Given the description of an element on the screen output the (x, y) to click on. 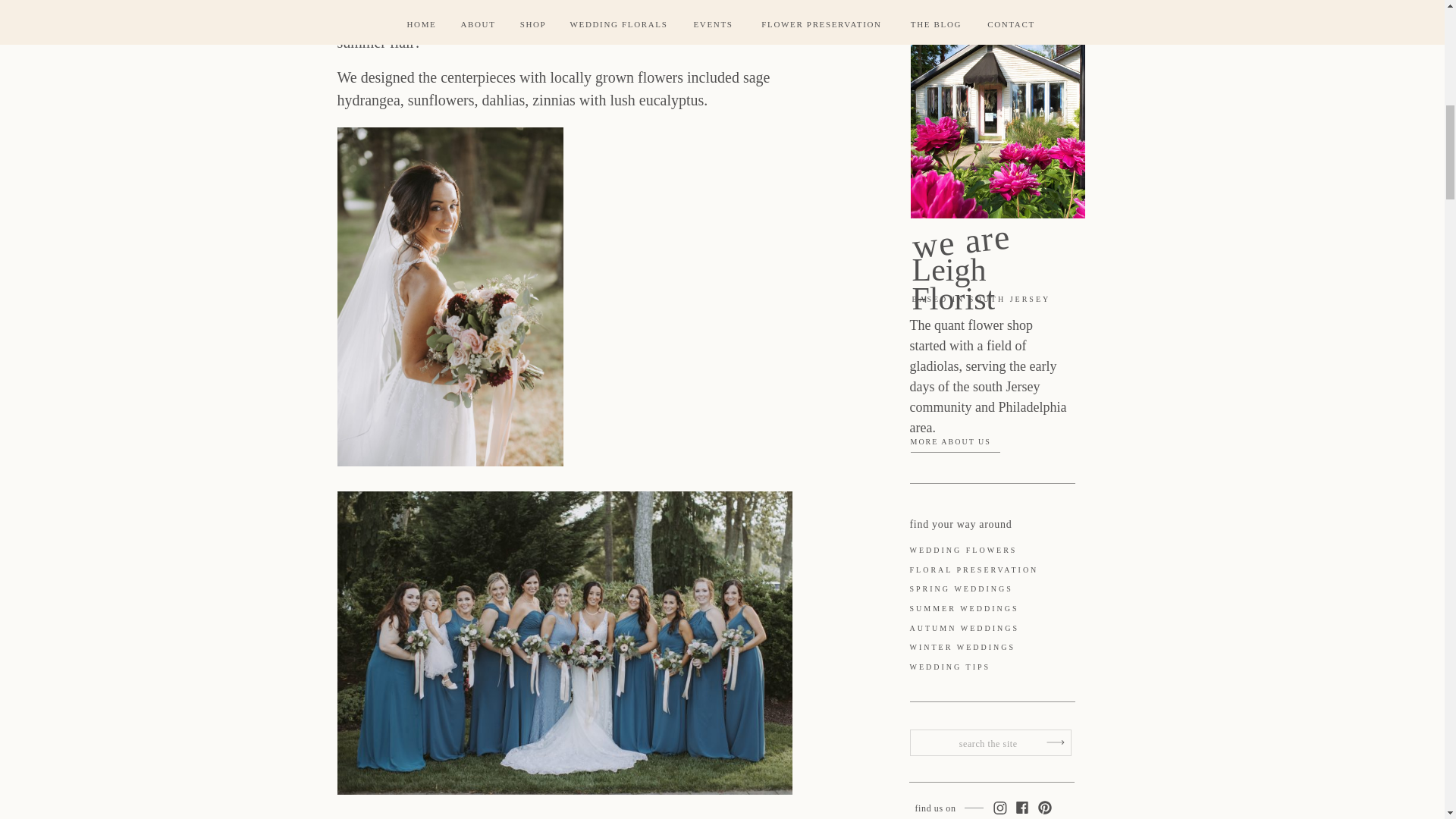
WEDDING FLOWERS (987, 551)
AUTUMN WEDDINGS (990, 629)
SUMMER WEDDINGS (990, 609)
FLORAL PRESERVATION (996, 571)
WINTER WEDDINGS (990, 648)
SPRING WEDDINGS (995, 589)
Instagram-color Created with Sketch. (998, 807)
Facebook Copy-color Created with Sketch. (1020, 807)
WEDDING TIPS (990, 667)
MORE ABOUT US (960, 443)
